Given the description of an element on the screen output the (x, y) to click on. 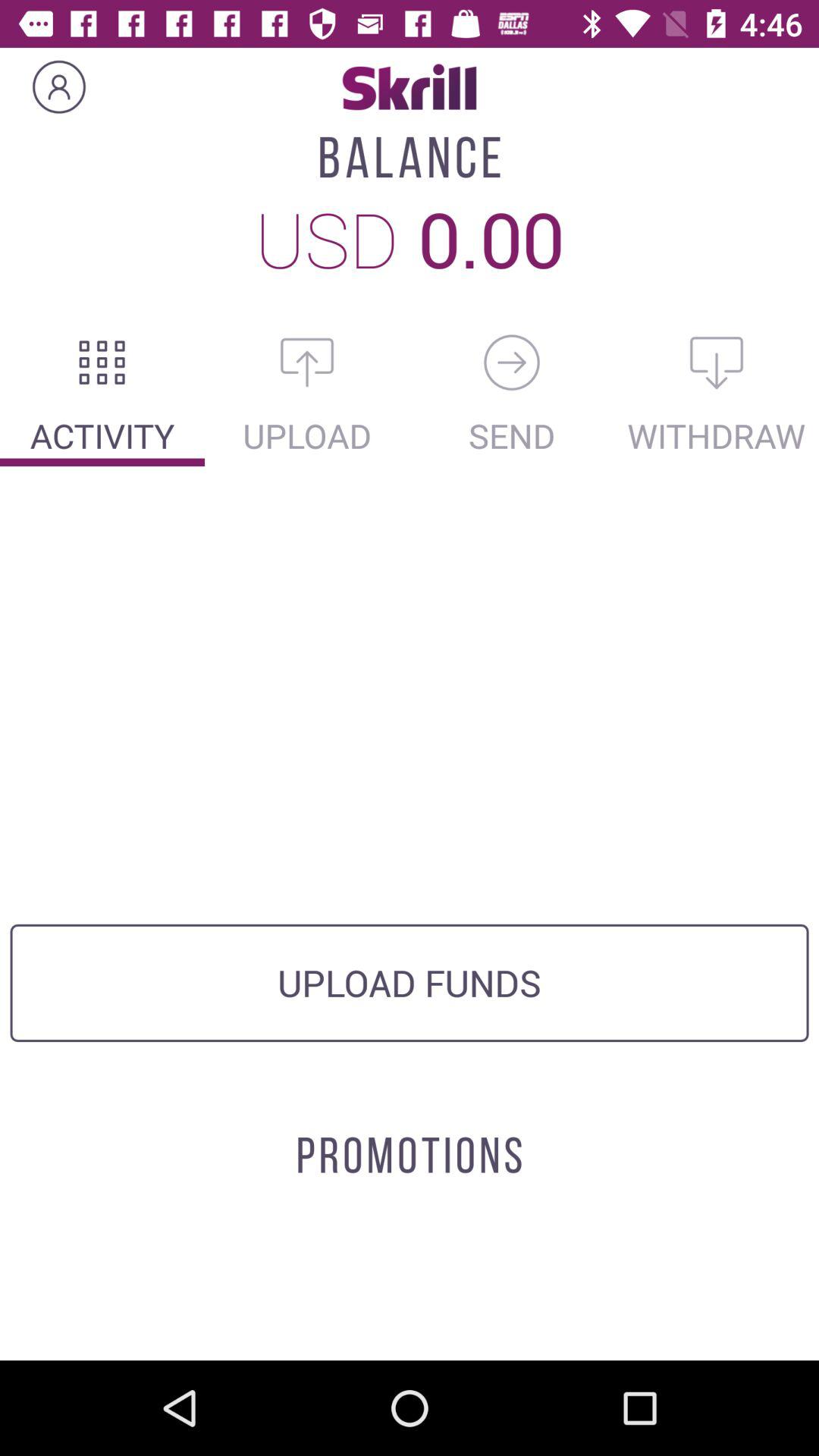
click to withdraw (716, 362)
